Given the description of an element on the screen output the (x, y) to click on. 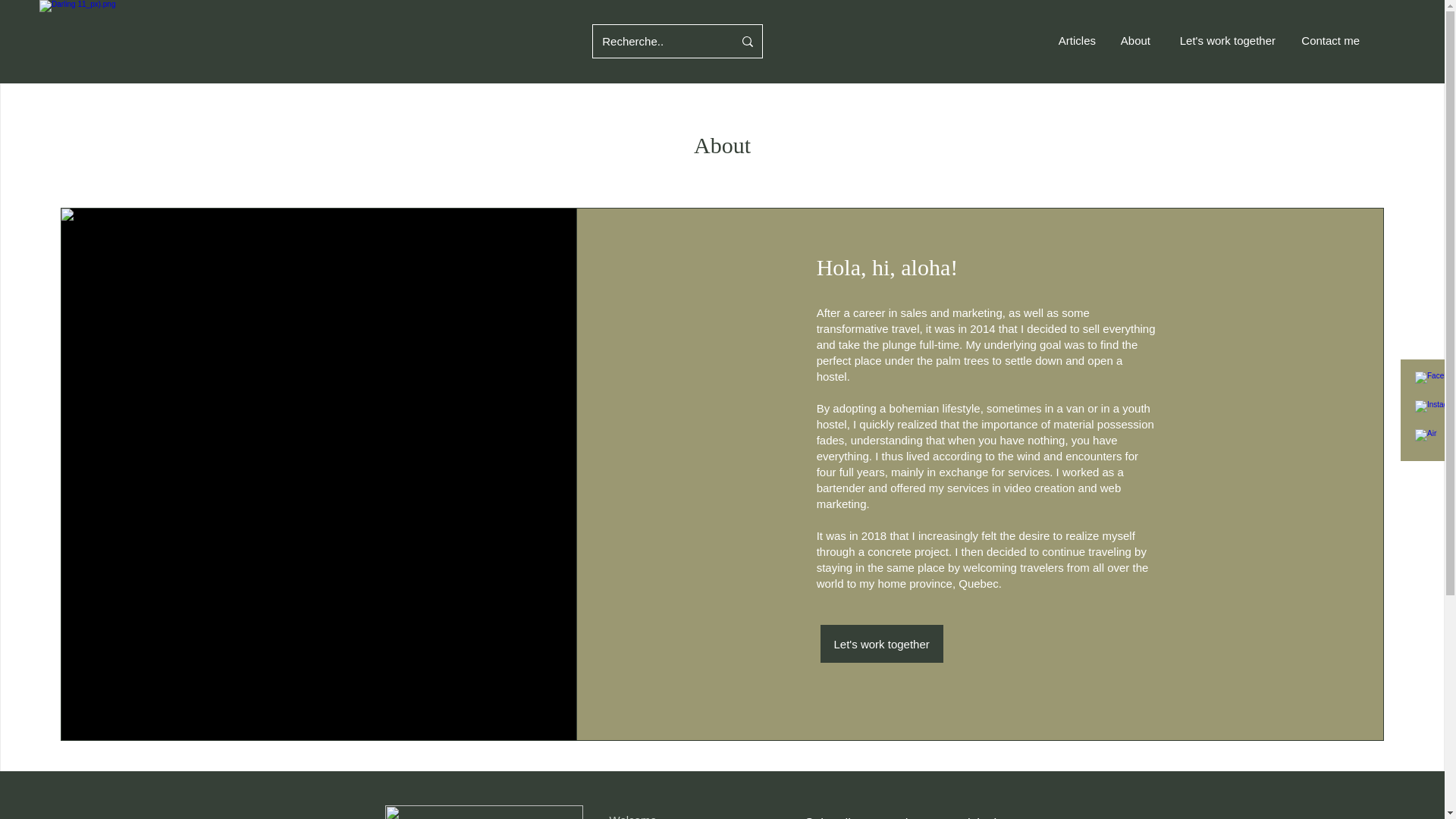
Contact me (1329, 40)
Articles (1075, 40)
Let's work together (1224, 40)
Welcome (633, 816)
Let's work together (882, 643)
About (1133, 40)
